Given the description of an element on the screen output the (x, y) to click on. 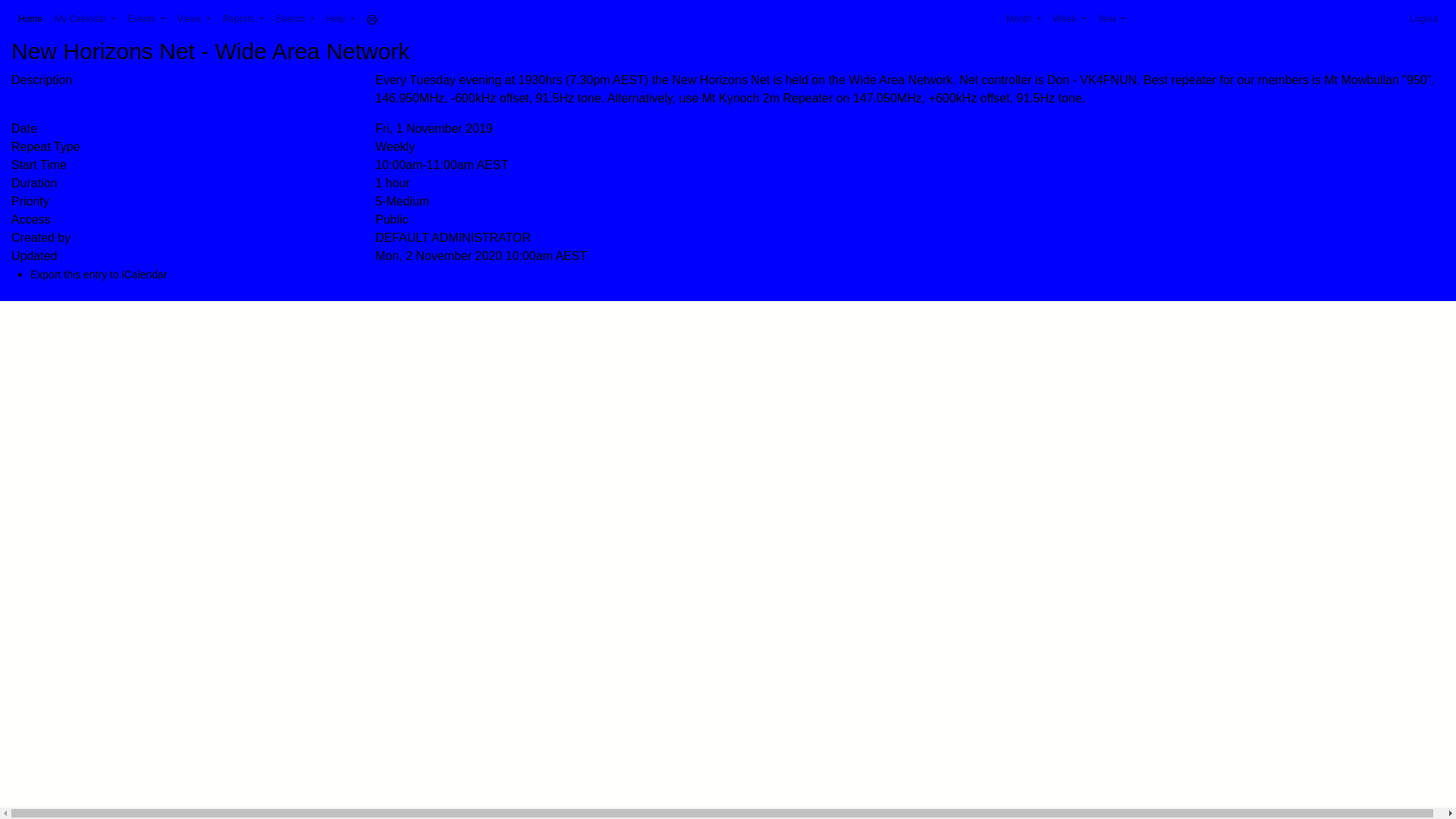
Views Element type: text (193, 18)
Month Element type: text (1023, 18)
My Calendar Element type: text (84, 18)
Events Element type: text (145, 18)
Help Element type: text (340, 18)
Logout Element type: text (1423, 18)
Week Element type: text (1069, 18)
Year Element type: text (1112, 18)
DEFAULT ADMINISTRATOR Element type: text (452, 237)
Reports Element type: text (242, 18)
Search Element type: text (294, 18)
Home
(current) Element type: text (30, 18)
